Given the description of an element on the screen output the (x, y) to click on. 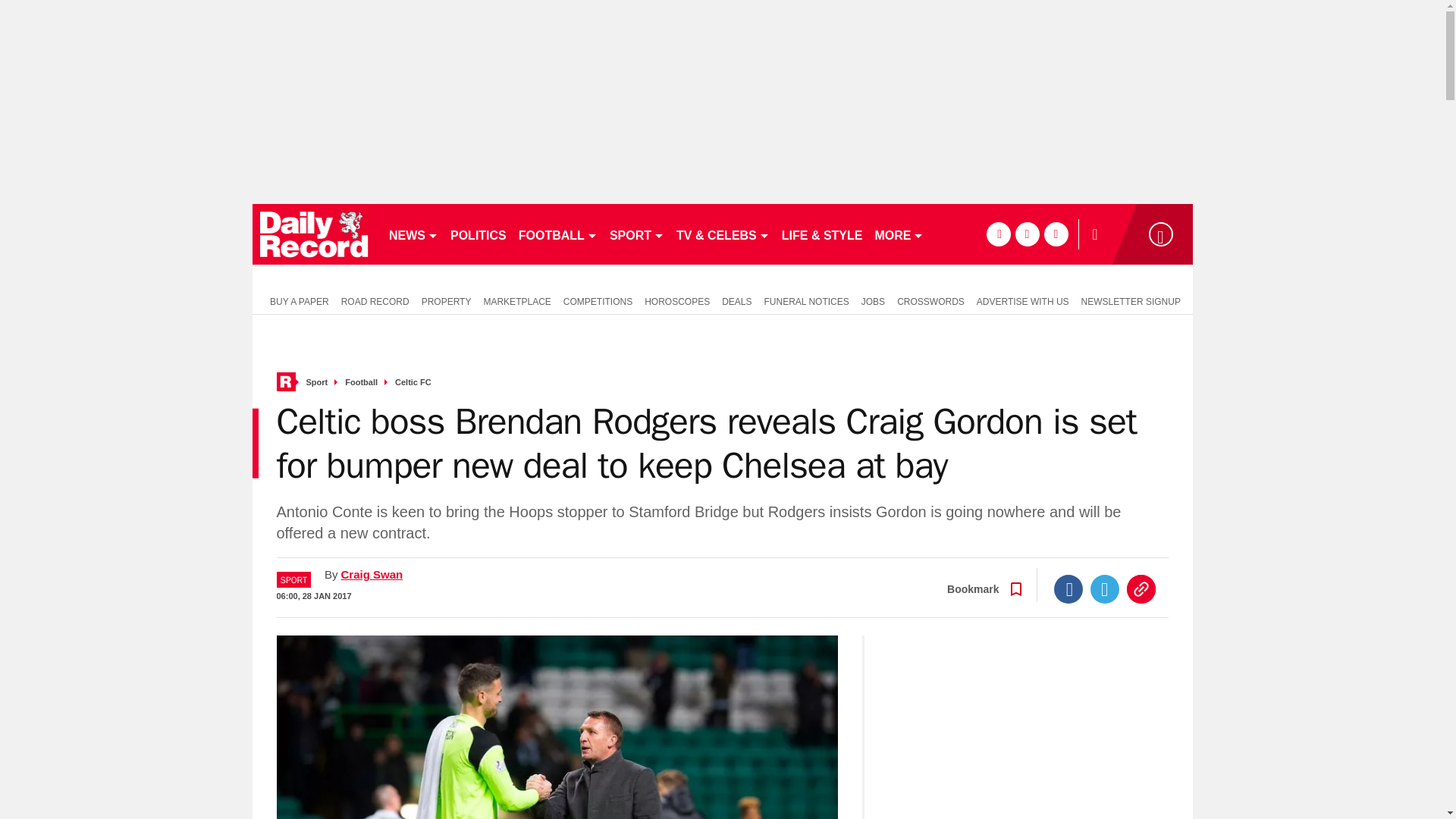
facebook (997, 233)
Twitter (1104, 588)
Facebook (1068, 588)
POLITICS (478, 233)
dailyrecord (313, 233)
FOOTBALL (558, 233)
instagram (1055, 233)
twitter (1026, 233)
NEWS (413, 233)
SPORT (636, 233)
